Given the description of an element on the screen output the (x, y) to click on. 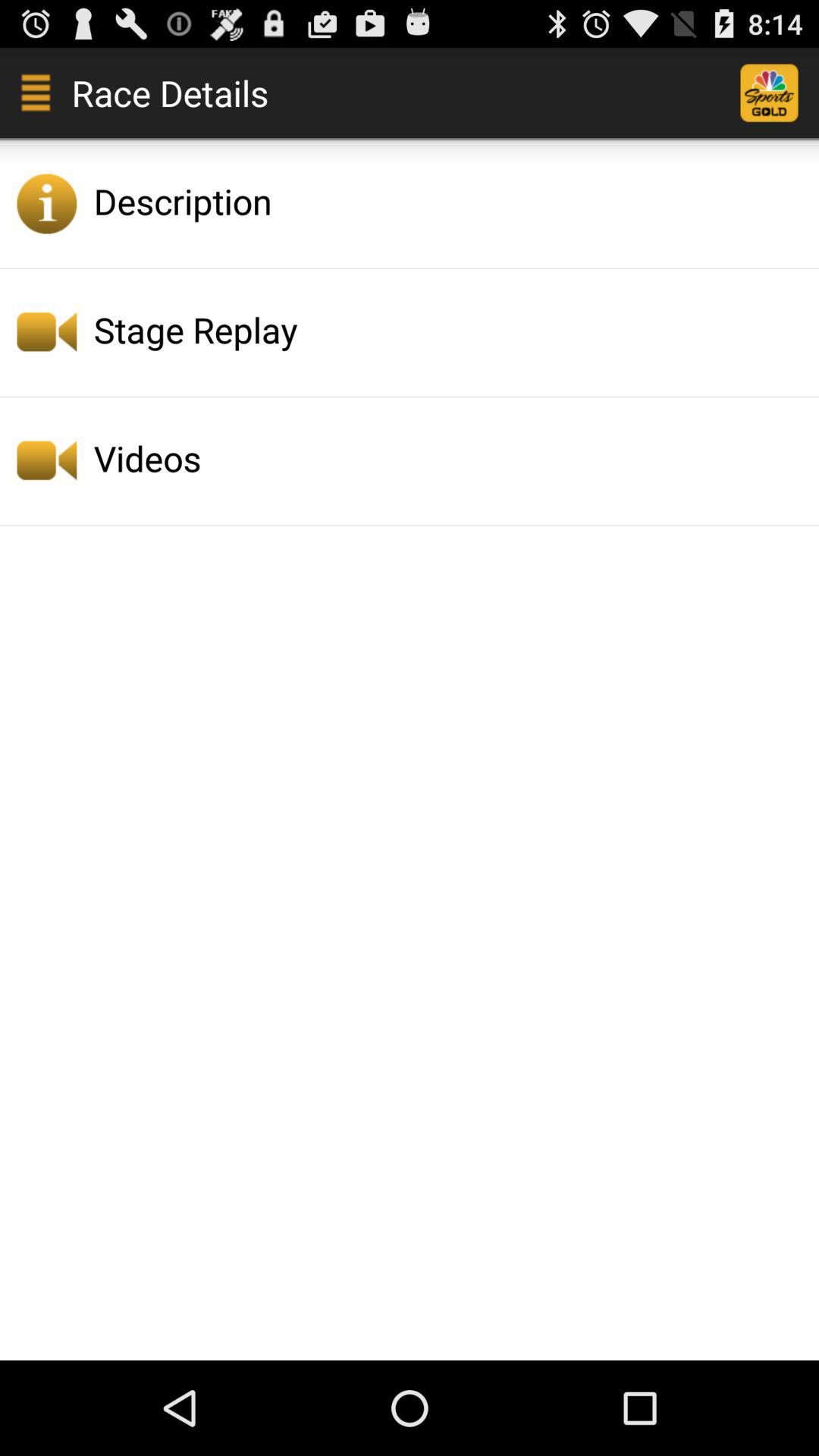
jump until the stage replay icon (452, 329)
